Given the description of an element on the screen output the (x, y) to click on. 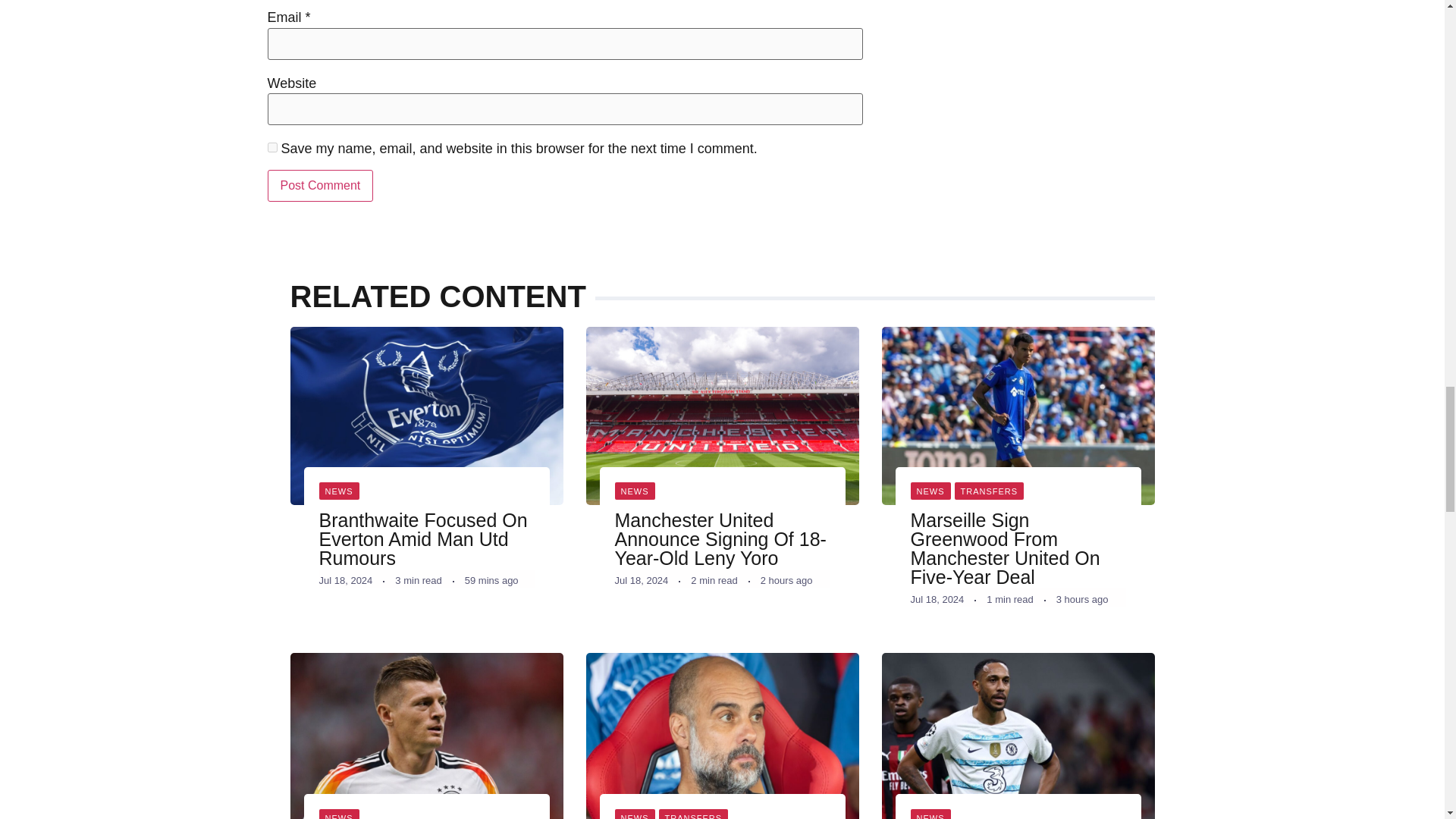
yes (271, 147)
Post Comment (319, 185)
